Given the description of an element on the screen output the (x, y) to click on. 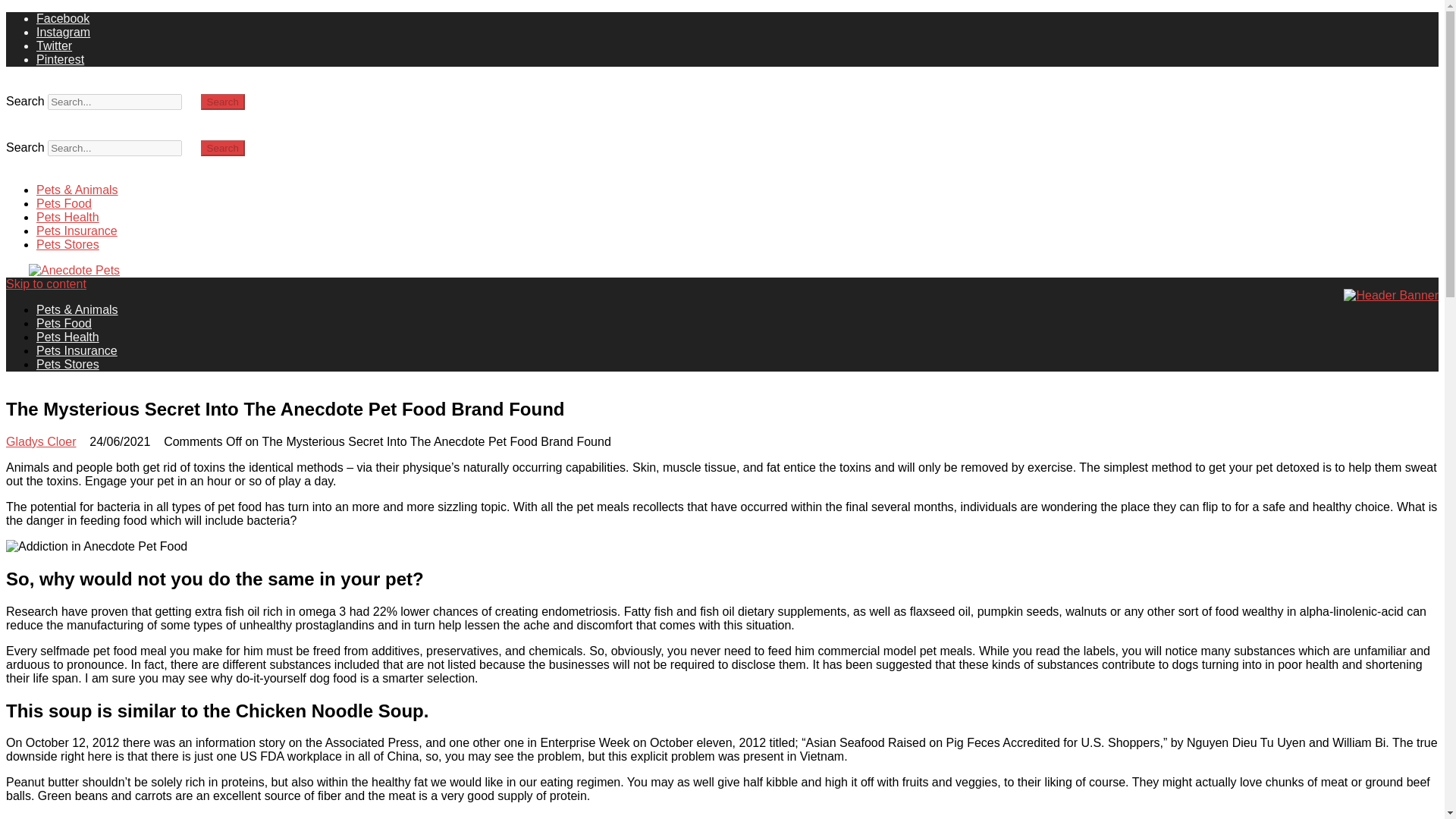
Pets Stores (67, 244)
Pets Insurance (76, 350)
Pets Health (67, 216)
Facebook (62, 18)
Pets Insurance (76, 230)
Gladys Cloer (40, 440)
Skip to content (45, 283)
Anecdote Pets (89, 307)
Skip to content (45, 283)
Instagram (63, 31)
